Given the description of an element on the screen output the (x, y) to click on. 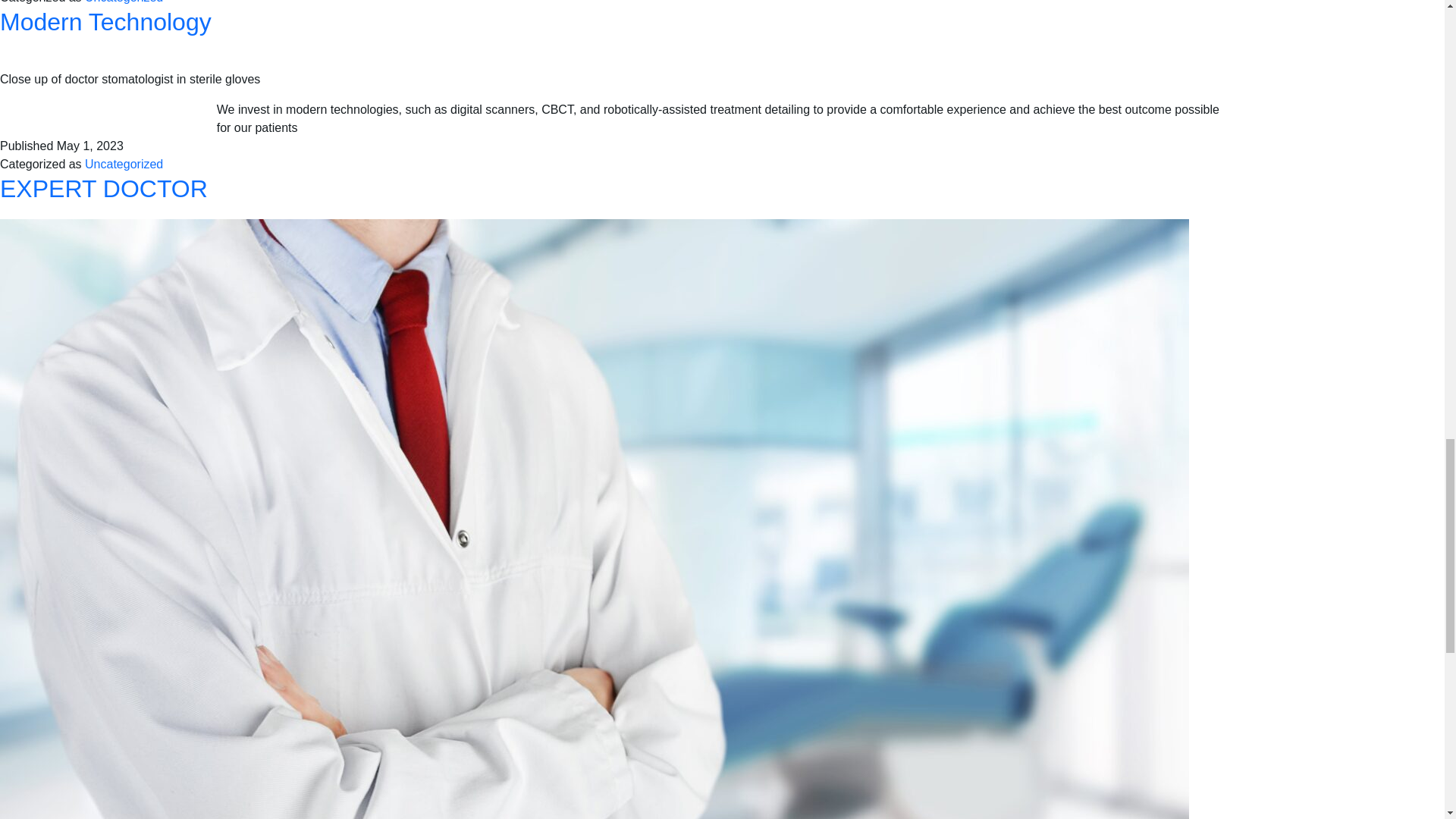
Modern Technology (105, 21)
EXPERT DOCTOR (104, 188)
Uncategorized (123, 164)
Uncategorized (123, 3)
